Given the description of an element on the screen output the (x, y) to click on. 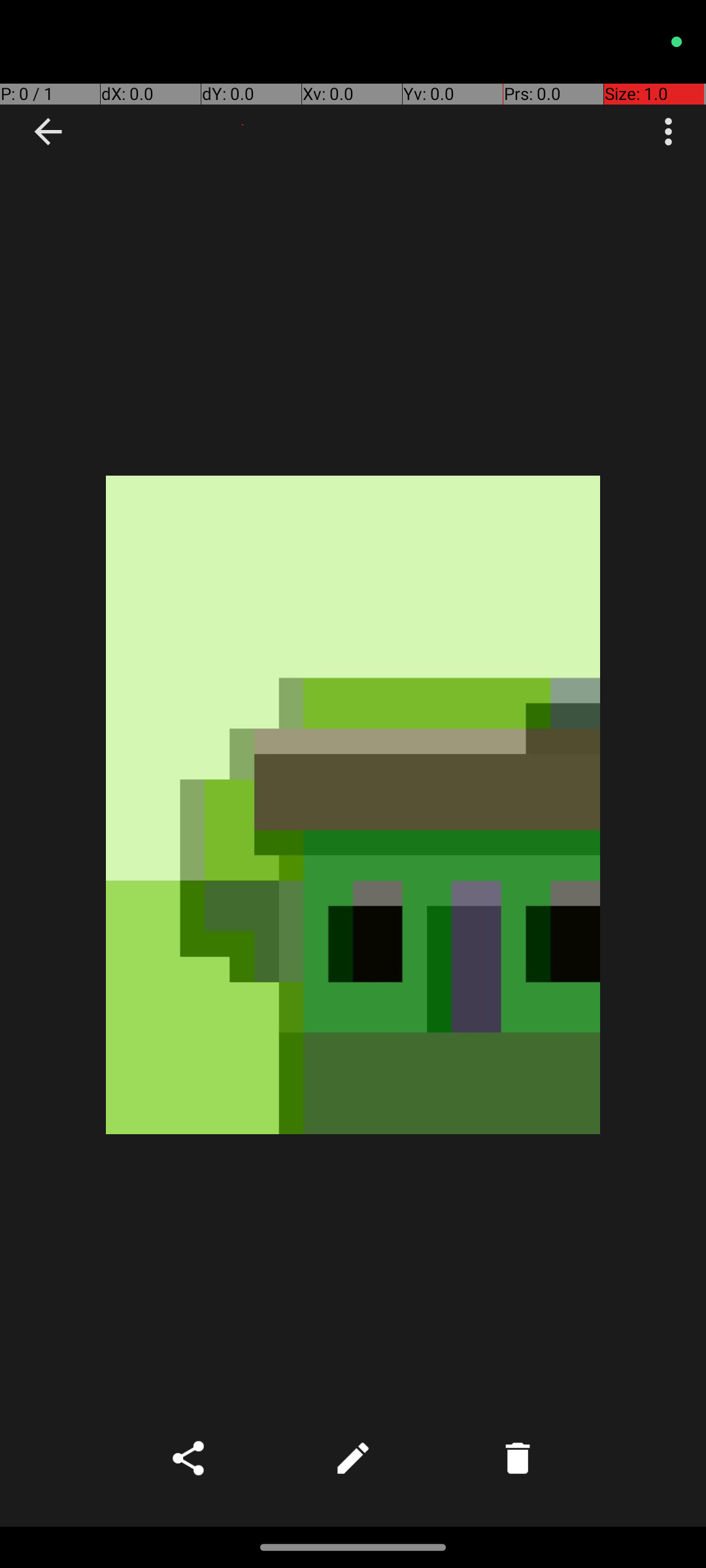
Photo taken on Oct 15, 2023 15:34:19 Element type: android.widget.ImageView (352, 804)
